Given the description of an element on the screen output the (x, y) to click on. 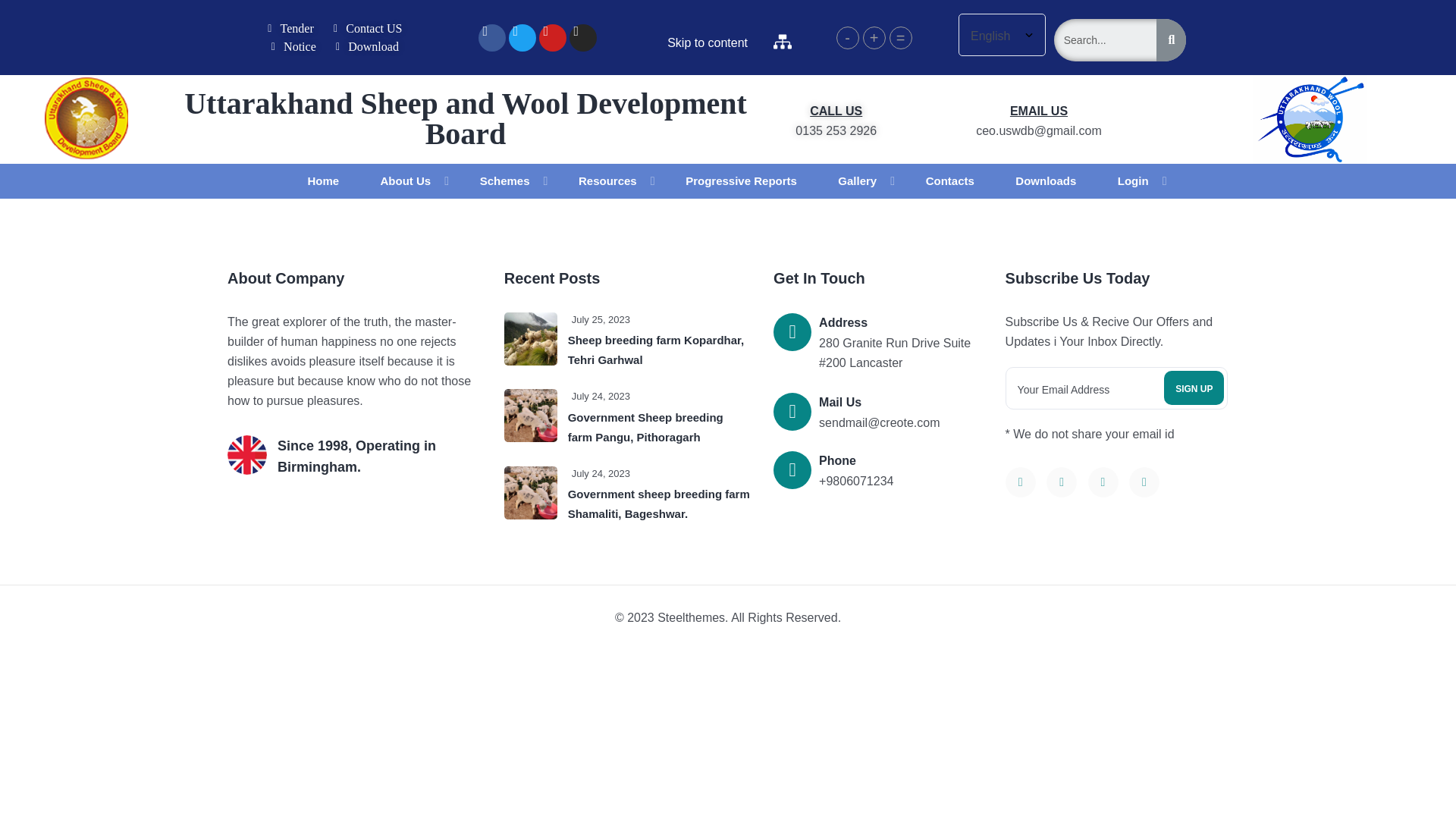
Search (1105, 39)
Gallery (857, 180)
Schemes (504, 180)
Progressive Reports (740, 180)
About Us (405, 180)
Sitemap Icon (782, 41)
Notice (294, 46)
Sitemap (782, 40)
Contacts (950, 180)
Resources (607, 180)
Home (323, 180)
Tender (292, 28)
Download (368, 46)
Sign up (1193, 387)
Contact US (369, 28)
